Given the description of an element on the screen output the (x, y) to click on. 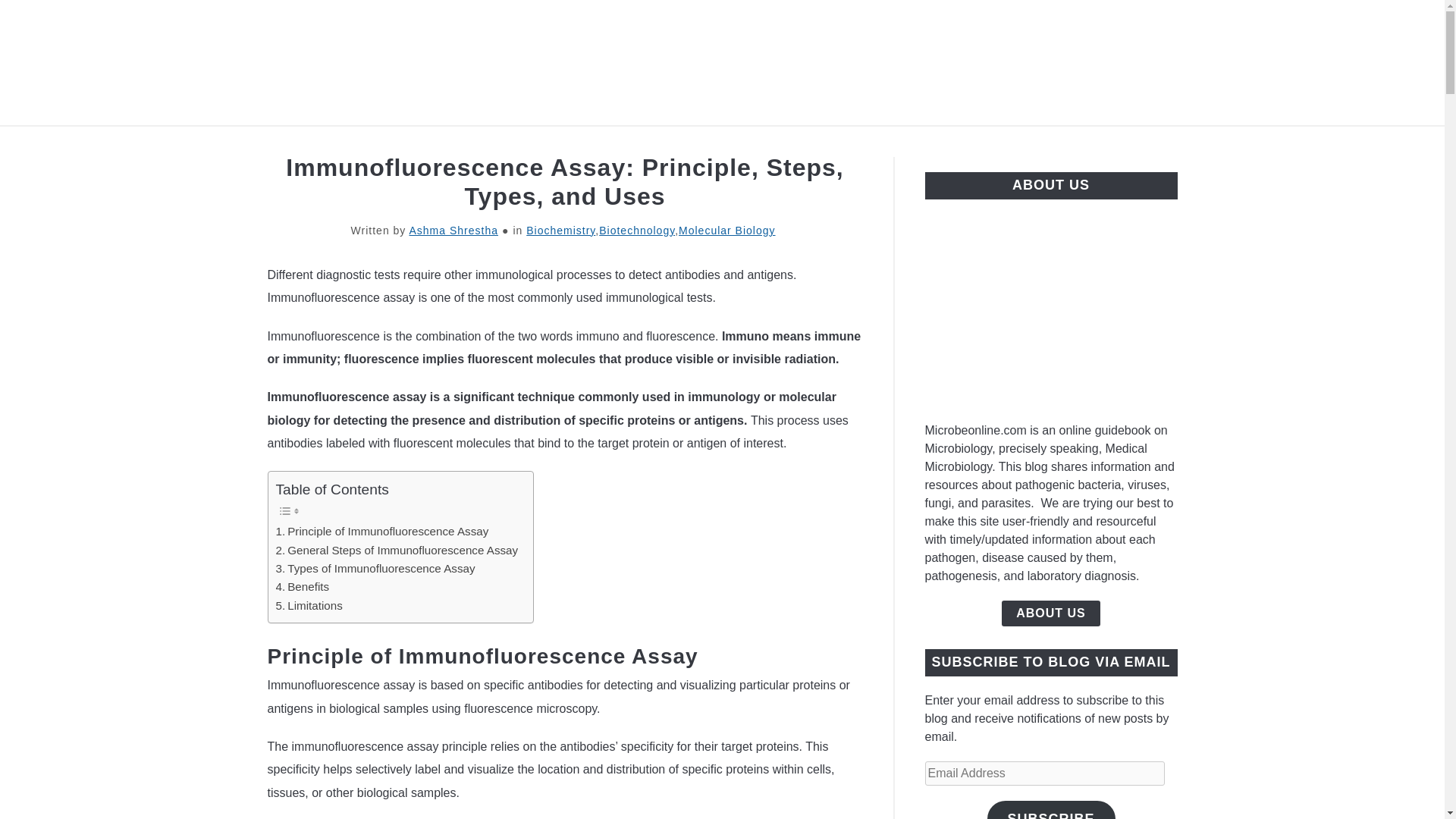
Principle of Immunofluorescence Assay (382, 531)
Benefits (303, 587)
Molecular Biology (727, 230)
MOLECULAR BIOLOGY (1064, 143)
Search (1203, 62)
GENERAL MICROBIOLOGY (394, 143)
Biotechnology (636, 230)
Types of Immunofluorescence Assay (376, 568)
Principle of Immunofluorescence Assay (382, 531)
Ashma Shrestha (453, 230)
General Steps of Immunofluorescence Assay (397, 550)
IMMUNOLOGY (911, 143)
Biochemistry (560, 230)
Types of Immunofluorescence Assay (376, 568)
Benefits (303, 587)
